Given the description of an element on the screen output the (x, y) to click on. 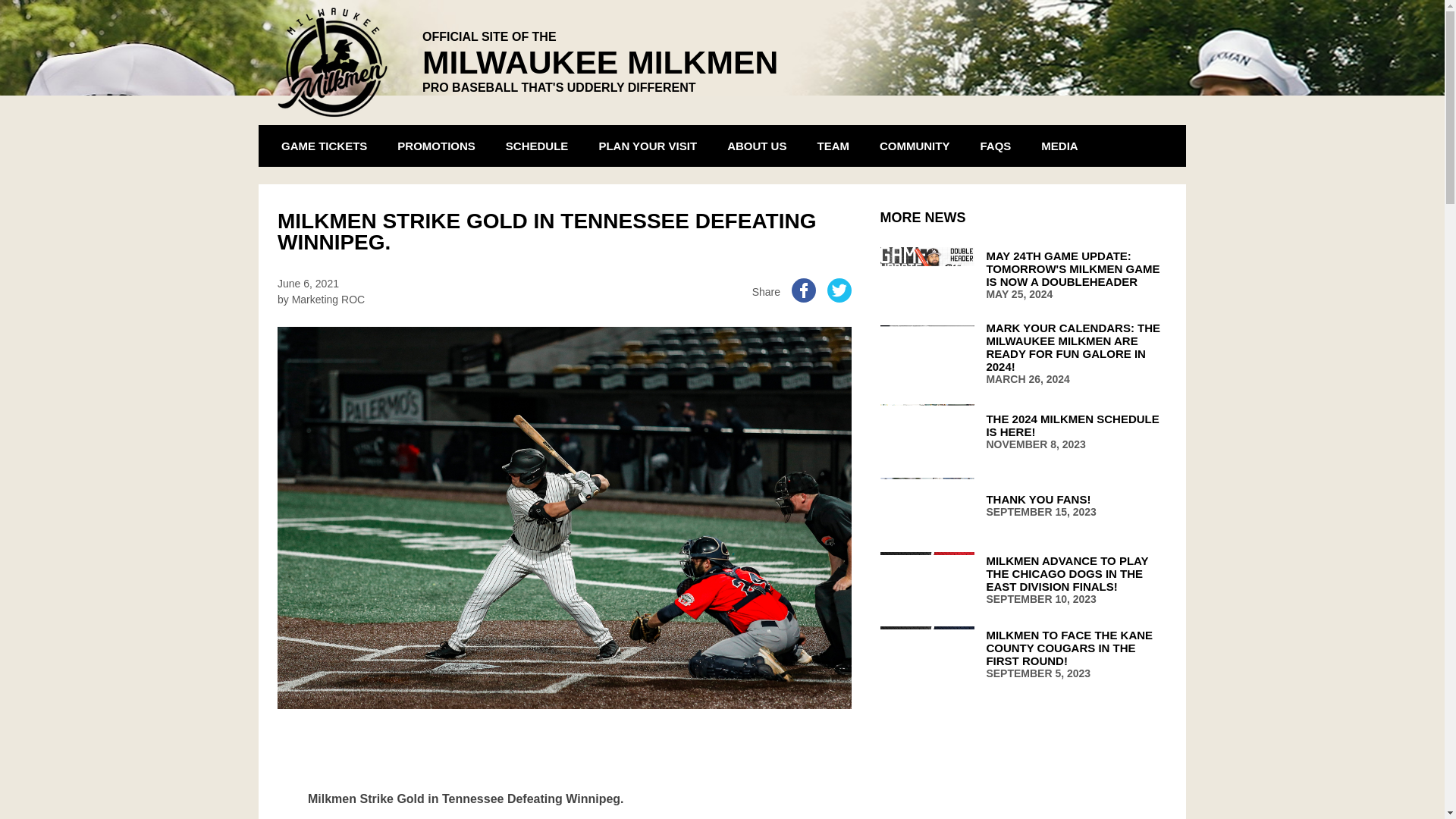
Milkmen Strike Gold in Tennessee Defeating Winnipeg. (563, 787)
SCHEDULE (537, 146)
FAQS (995, 146)
Milkmen Strike Gold in Tennessee Defeating Winnipeg. (564, 773)
PROMOTIONS (435, 146)
